Given the description of an element on the screen output the (x, y) to click on. 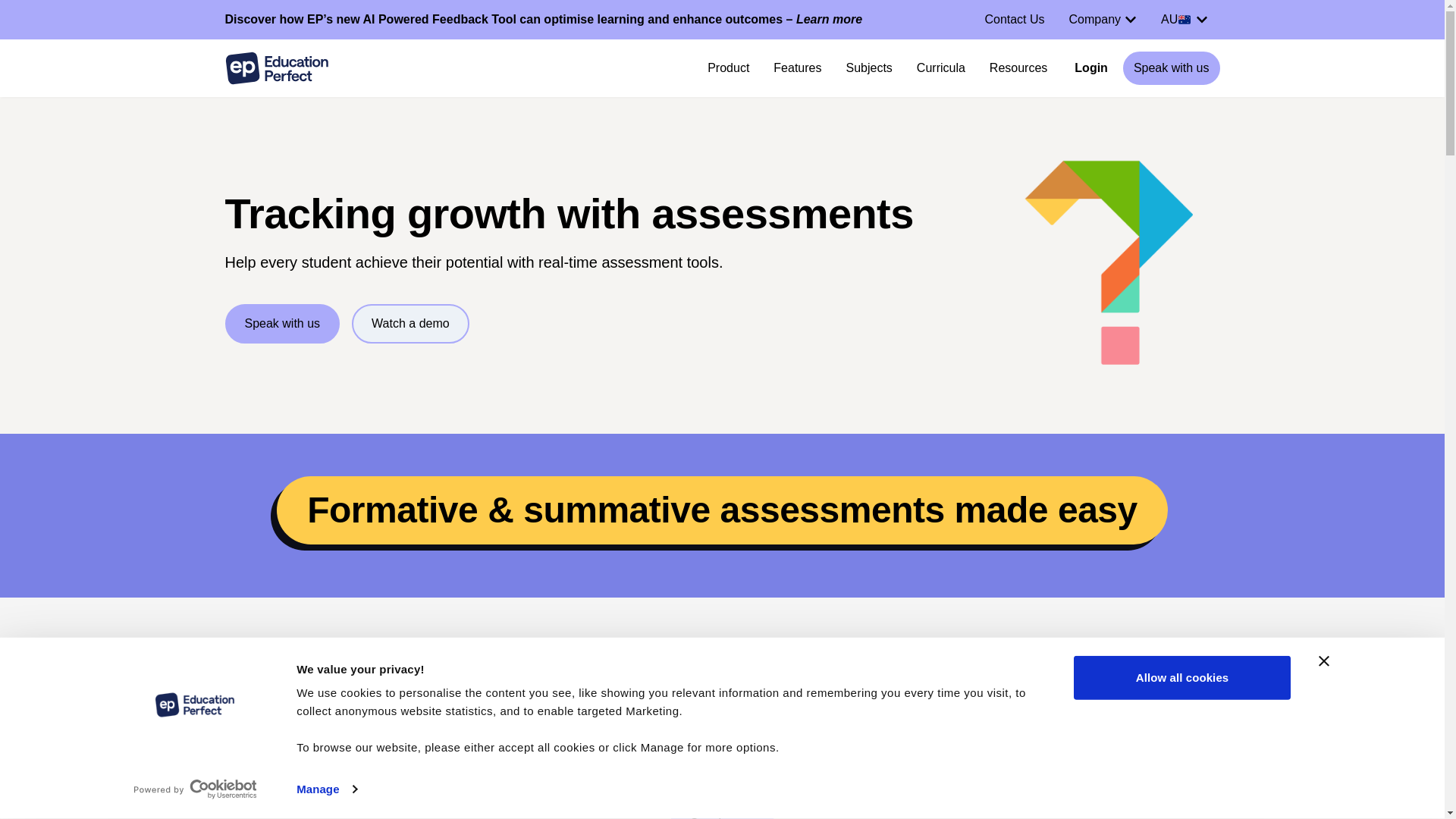
Manage (326, 789)
